Given the description of an element on the screen output the (x, y) to click on. 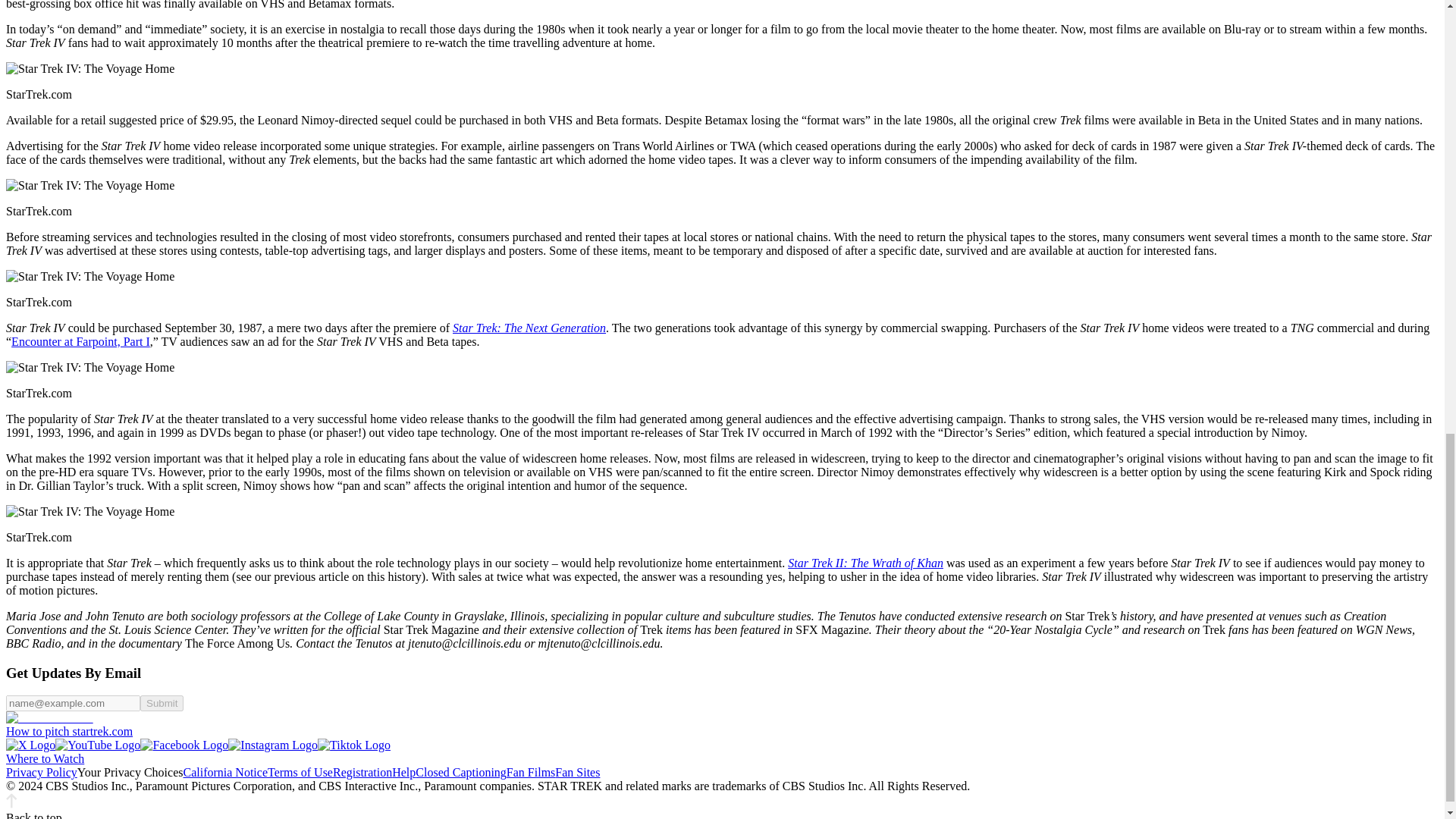
Where to Watch (44, 758)
California Notice (225, 771)
How to pitch startrek.com (68, 730)
Star Trek II: The Wrath of Khan (865, 562)
Star Trek: The Next Generation (528, 327)
Fan Sites (576, 771)
Privacy Policy (41, 771)
Help (402, 771)
Closed Captioning (460, 771)
Terms of Use (300, 771)
Submit (161, 703)
Your Privacy Choices (130, 771)
Encounter at Farpoint, Part I (80, 341)
Registration (362, 771)
Fan Films (530, 771)
